Given the description of an element on the screen output the (x, y) to click on. 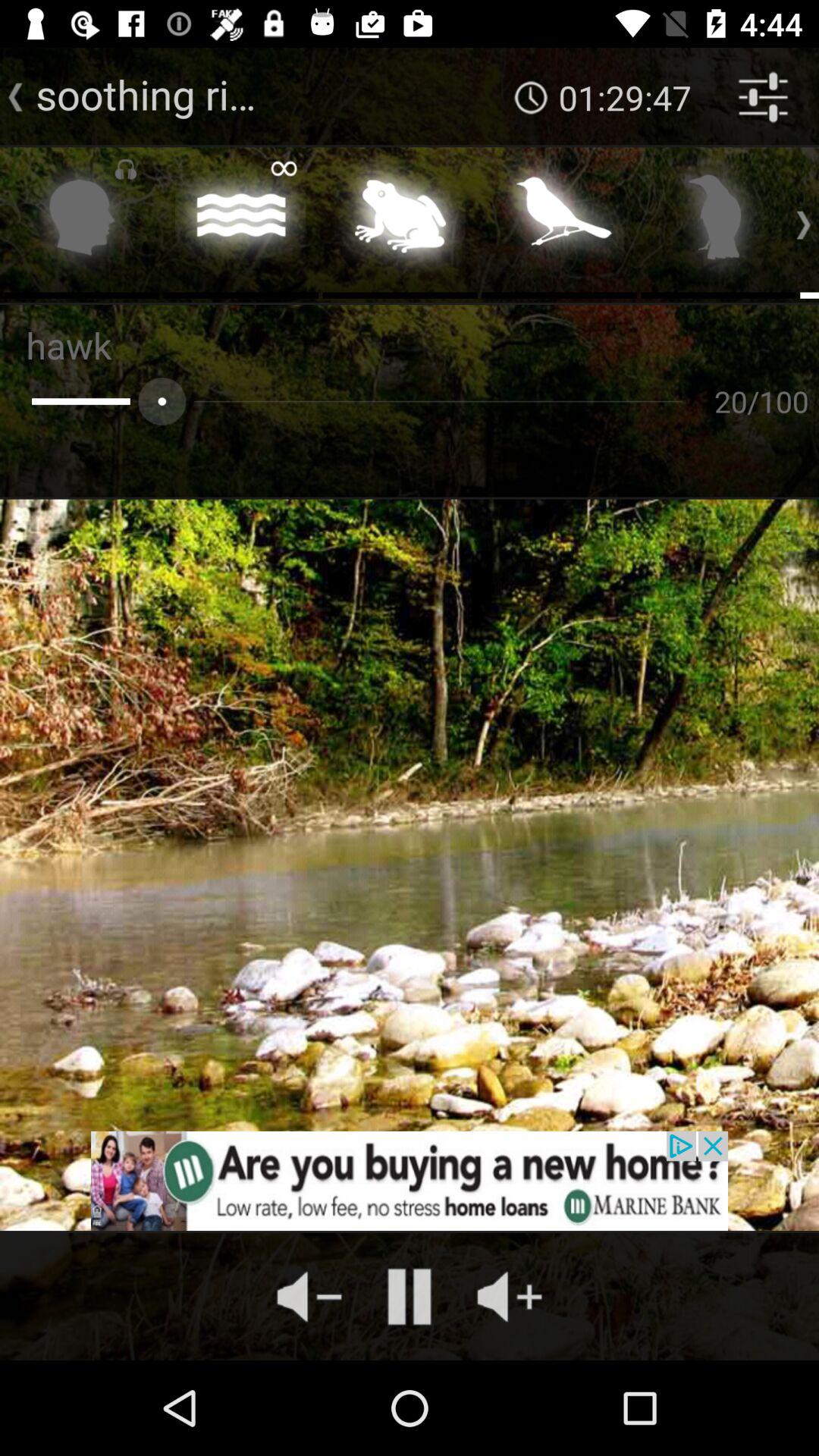
toggle headphones (81, 221)
